Given the description of an element on the screen output the (x, y) to click on. 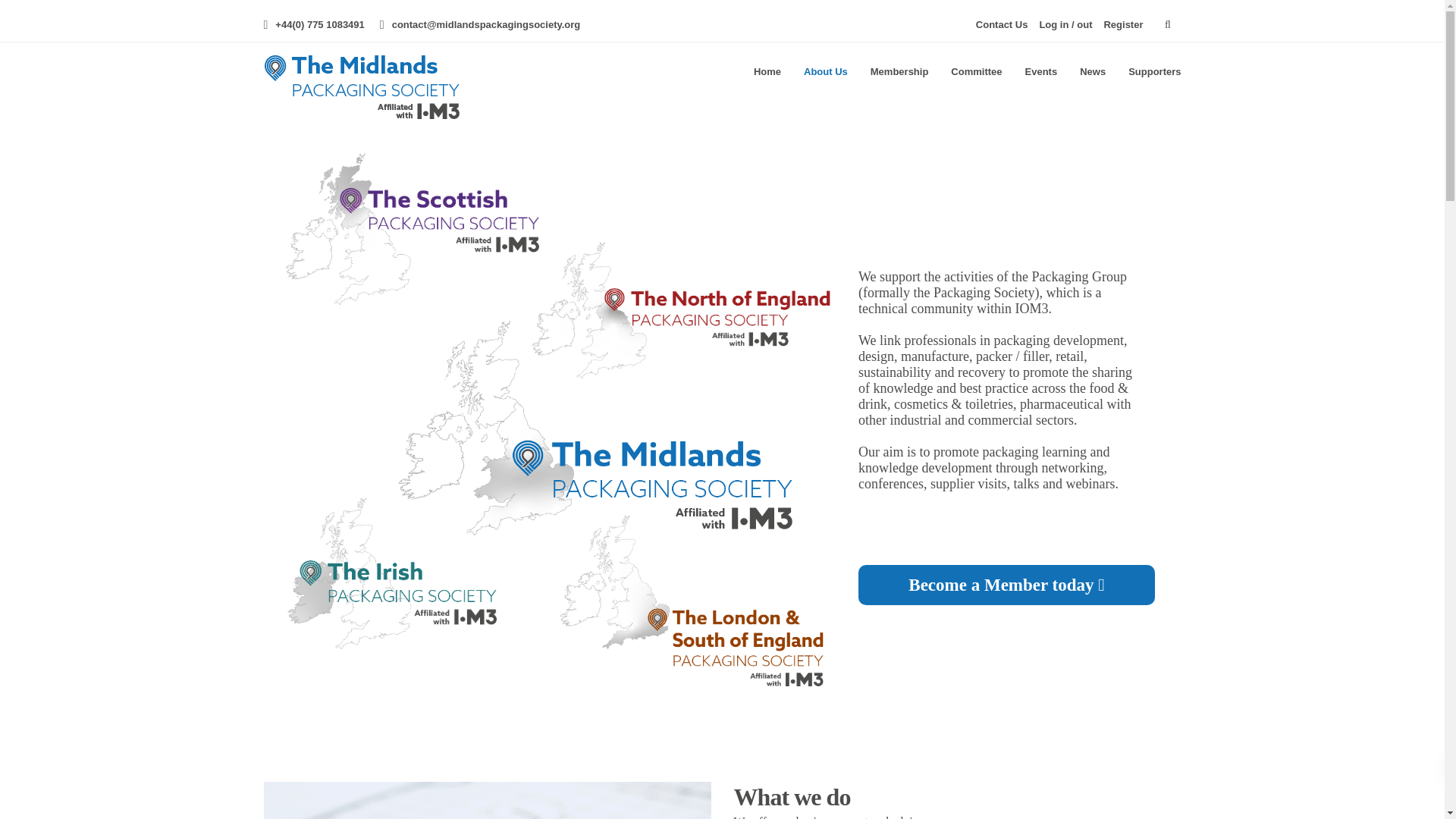
Committee (976, 71)
About Us (825, 71)
Supporters (1154, 71)
Register (1122, 24)
Become a Member today (1006, 585)
Contact Us (1001, 24)
Events (1040, 71)
Membership (899, 71)
